Given the description of an element on the screen output the (x, y) to click on. 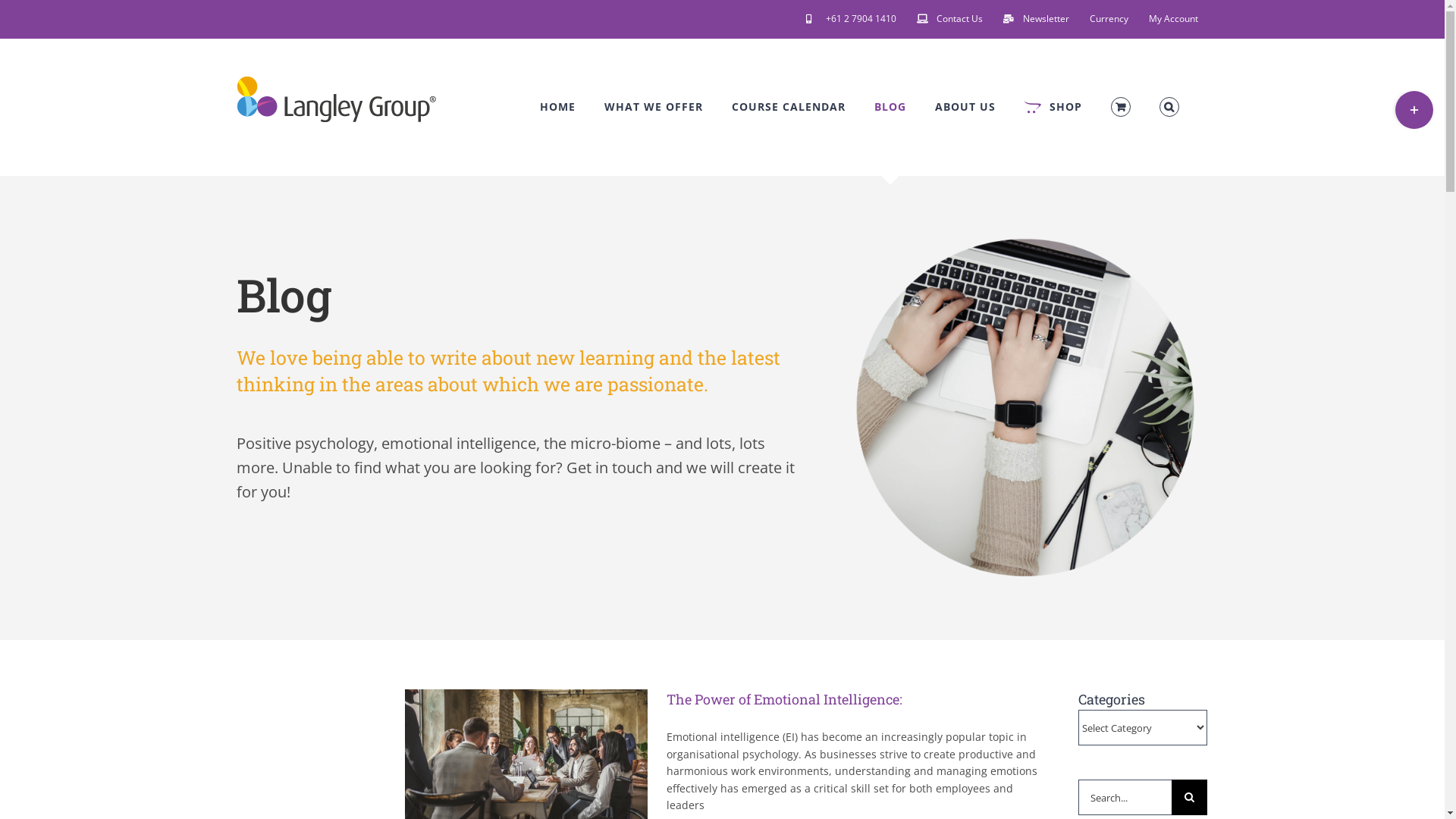
My Account Element type: text (1173, 18)
Newsletter Element type: text (1036, 18)
Currency Element type: text (1108, 18)
+61 2 7904 1410 Element type: text (851, 18)
COURSE CALENDAR Element type: text (788, 106)
The Power of Emotional Intelligence: Element type: text (784, 699)
Toggle Sliding Bar Area Element type: text (1414, 109)
Blog Page Header Element type: hover (1024, 407)
WHAT WE OFFER Element type: text (653, 106)
ABOUT US Element type: text (965, 106)
Search Element type: hover (1169, 106)
HOME Element type: text (557, 106)
Log In Element type: text (1226, 176)
Contact Us Element type: text (949, 18)
BLOG Element type: text (890, 106)
SHOP Element type: text (1053, 106)
